Given the description of an element on the screen output the (x, y) to click on. 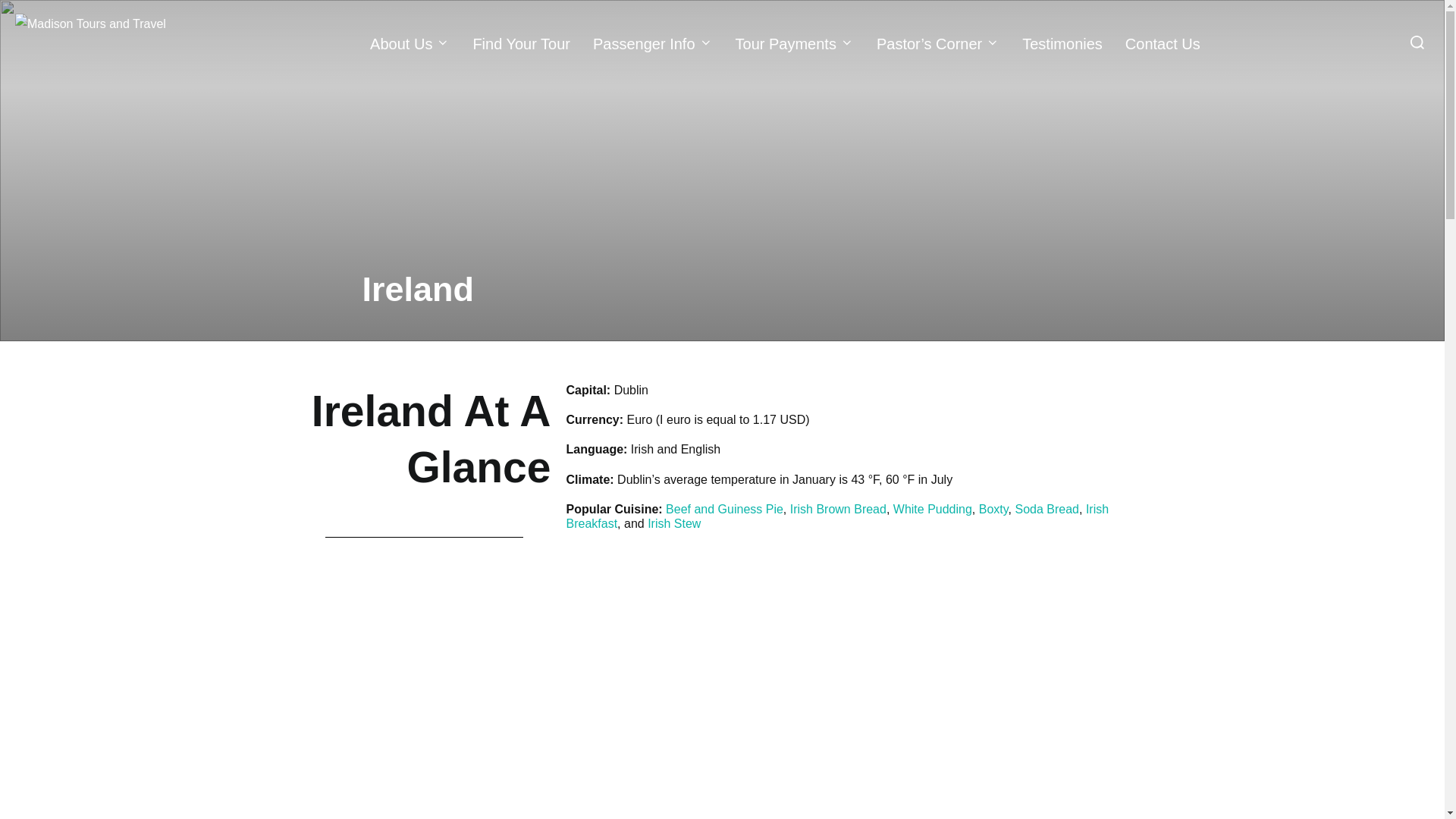
Passenger Info (652, 43)
Find Your Tour (520, 43)
Tour Payments (794, 43)
About Us (409, 43)
